Given the description of an element on the screen output the (x, y) to click on. 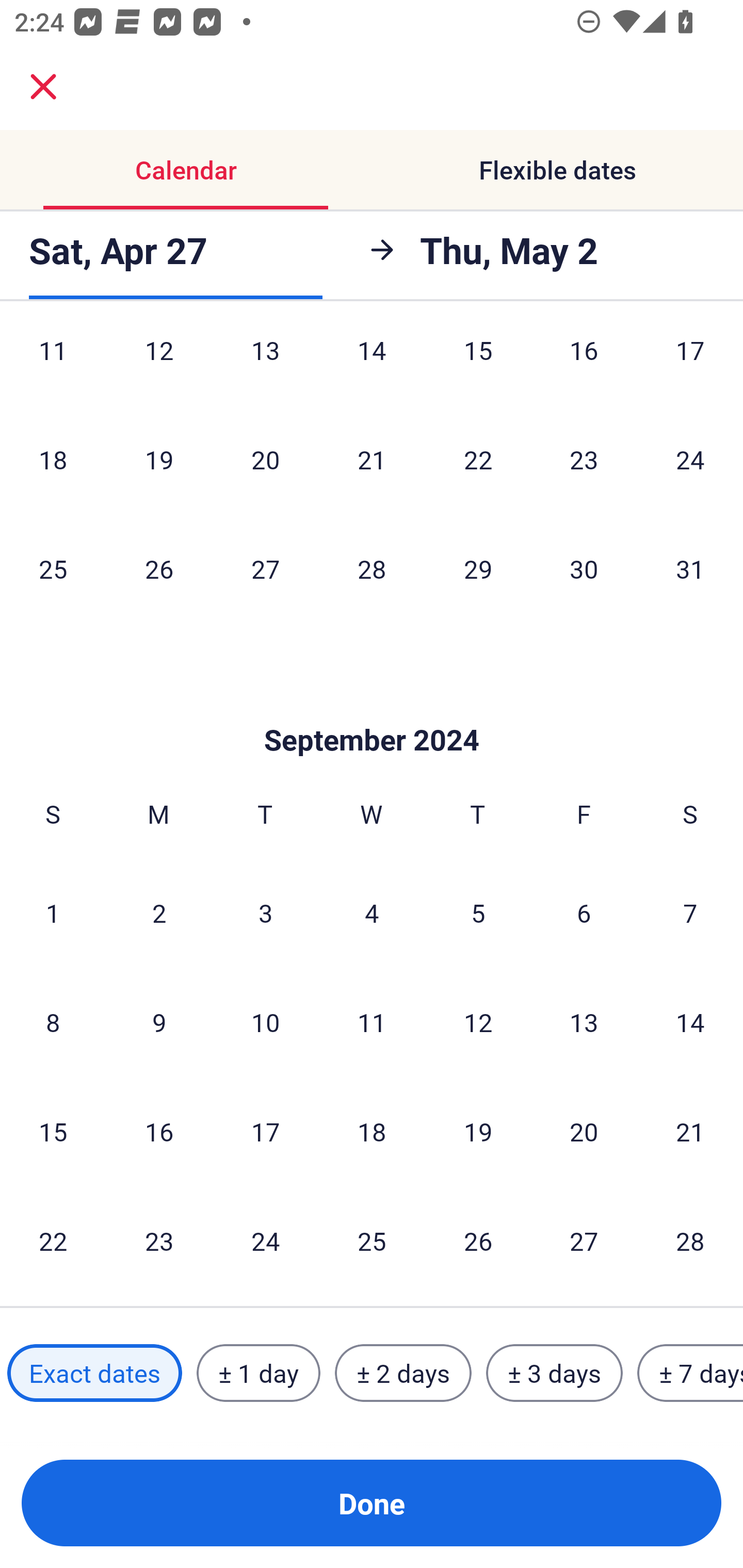
close. (43, 86)
Flexible dates (557, 170)
11 Sunday, August 11, 2024 (53, 366)
12 Monday, August 12, 2024 (159, 366)
13 Tuesday, August 13, 2024 (265, 366)
14 Wednesday, August 14, 2024 (371, 366)
15 Thursday, August 15, 2024 (477, 366)
16 Friday, August 16, 2024 (584, 366)
17 Saturday, August 17, 2024 (690, 366)
18 Sunday, August 18, 2024 (53, 459)
19 Monday, August 19, 2024 (159, 459)
20 Tuesday, August 20, 2024 (265, 459)
21 Wednesday, August 21, 2024 (371, 459)
22 Thursday, August 22, 2024 (477, 459)
23 Friday, August 23, 2024 (584, 459)
24 Saturday, August 24, 2024 (690, 459)
25 Sunday, August 25, 2024 (53, 567)
26 Monday, August 26, 2024 (159, 567)
27 Tuesday, August 27, 2024 (265, 567)
28 Wednesday, August 28, 2024 (371, 567)
29 Thursday, August 29, 2024 (477, 567)
30 Friday, August 30, 2024 (584, 567)
31 Saturday, August 31, 2024 (690, 567)
Skip to Done (371, 709)
1 Sunday, September 1, 2024 (53, 912)
2 Monday, September 2, 2024 (159, 912)
3 Tuesday, September 3, 2024 (265, 912)
4 Wednesday, September 4, 2024 (371, 912)
5 Thursday, September 5, 2024 (477, 912)
6 Friday, September 6, 2024 (584, 912)
7 Saturday, September 7, 2024 (690, 912)
8 Sunday, September 8, 2024 (53, 1022)
9 Monday, September 9, 2024 (159, 1022)
10 Tuesday, September 10, 2024 (265, 1022)
11 Wednesday, September 11, 2024 (371, 1022)
12 Thursday, September 12, 2024 (477, 1022)
13 Friday, September 13, 2024 (584, 1022)
14 Saturday, September 14, 2024 (690, 1022)
15 Sunday, September 15, 2024 (53, 1130)
16 Monday, September 16, 2024 (159, 1130)
17 Tuesday, September 17, 2024 (265, 1130)
18 Wednesday, September 18, 2024 (371, 1130)
19 Thursday, September 19, 2024 (477, 1130)
20 Friday, September 20, 2024 (584, 1130)
21 Saturday, September 21, 2024 (690, 1130)
22 Sunday, September 22, 2024 (53, 1240)
23 Monday, September 23, 2024 (159, 1240)
24 Tuesday, September 24, 2024 (265, 1240)
25 Wednesday, September 25, 2024 (371, 1240)
26 Thursday, September 26, 2024 (477, 1240)
